Given the description of an element on the screen output the (x, y) to click on. 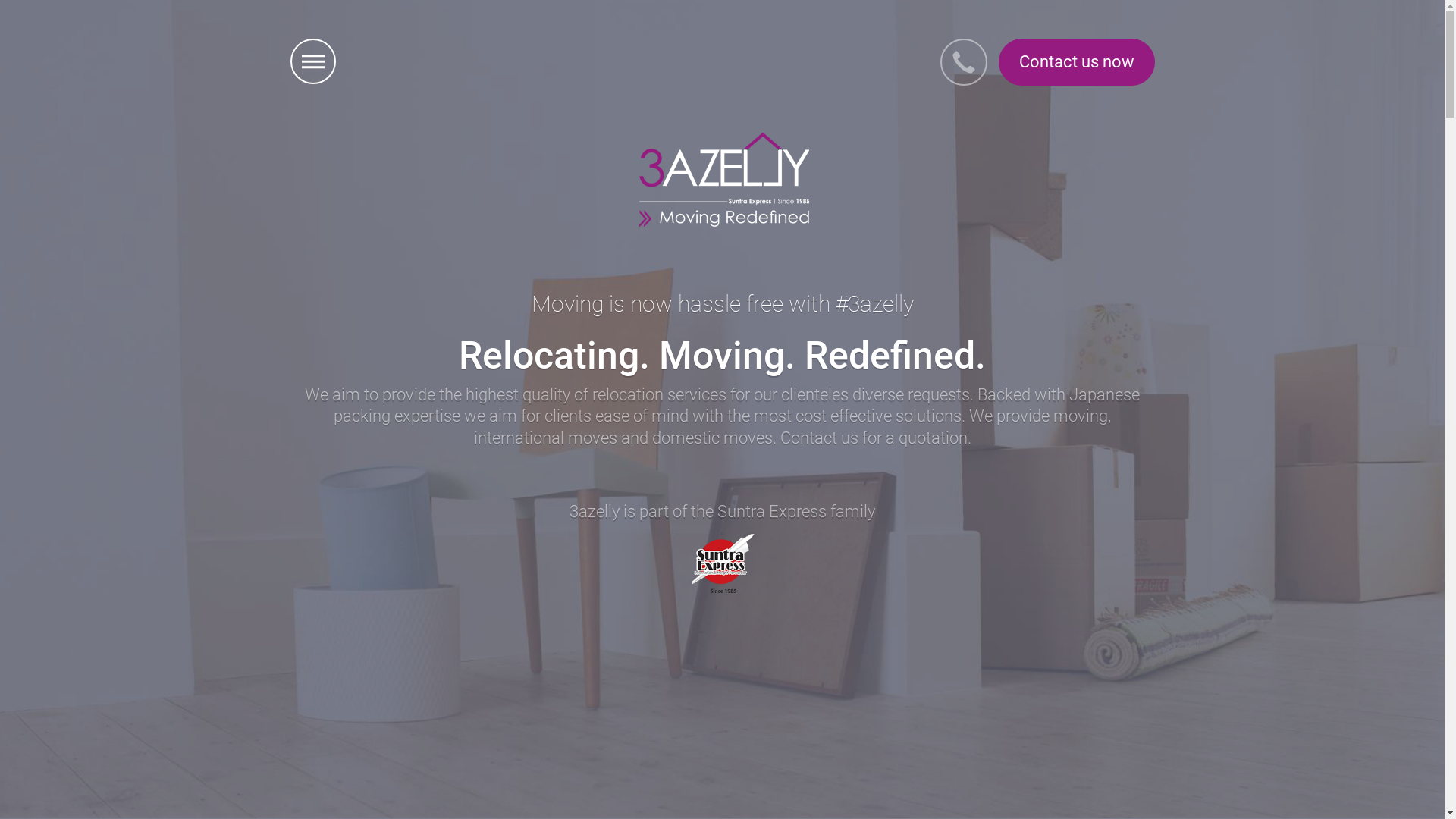
Contact us now Element type: text (1075, 61)
